Given the description of an element on the screen output the (x, y) to click on. 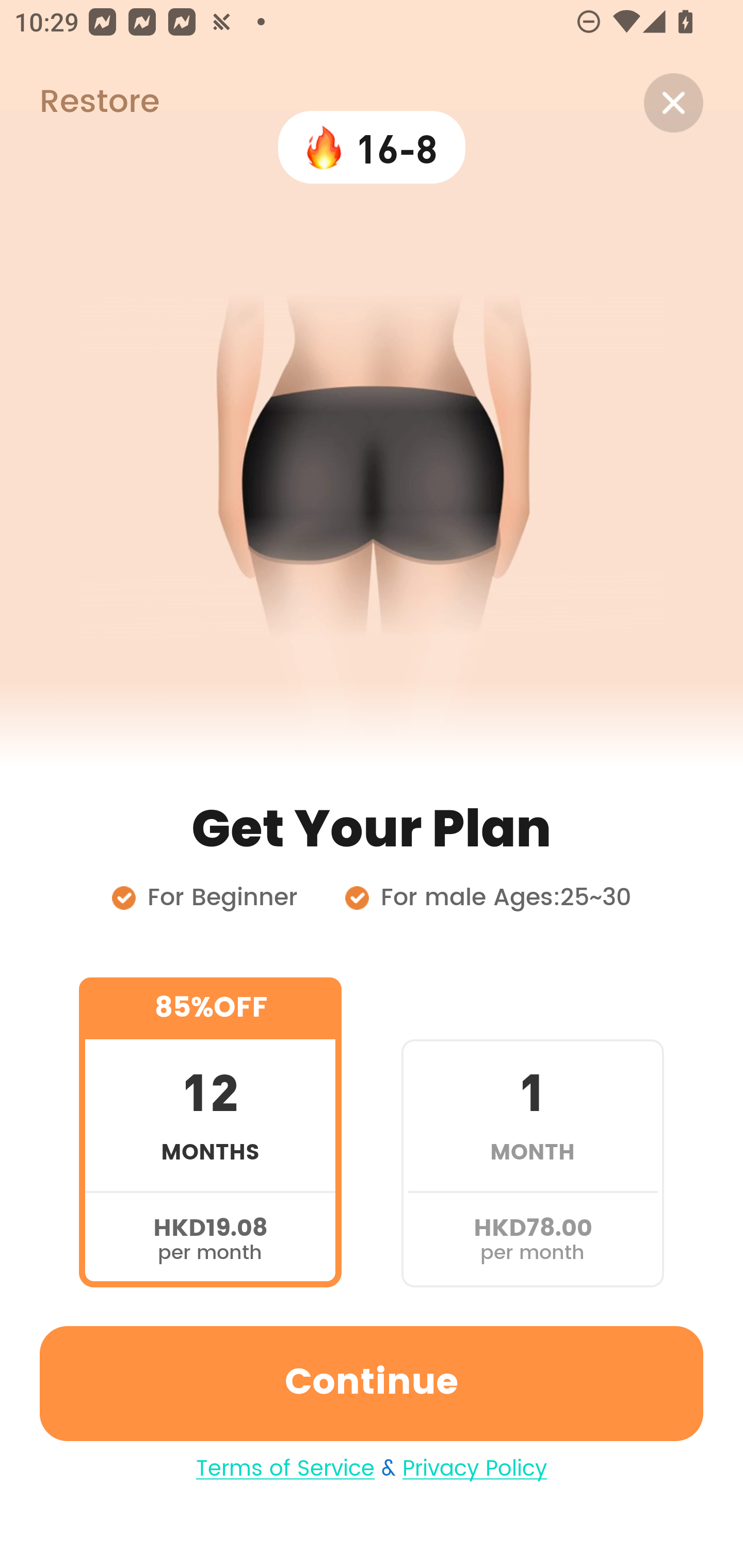
Restore (79, 102)
85%OFF 12 MONTHS per month HKD19.08 (209, 1131)
1 MONTH per month HKD78.00 (532, 1131)
Continue (371, 1383)
